Given the description of an element on the screen output the (x, y) to click on. 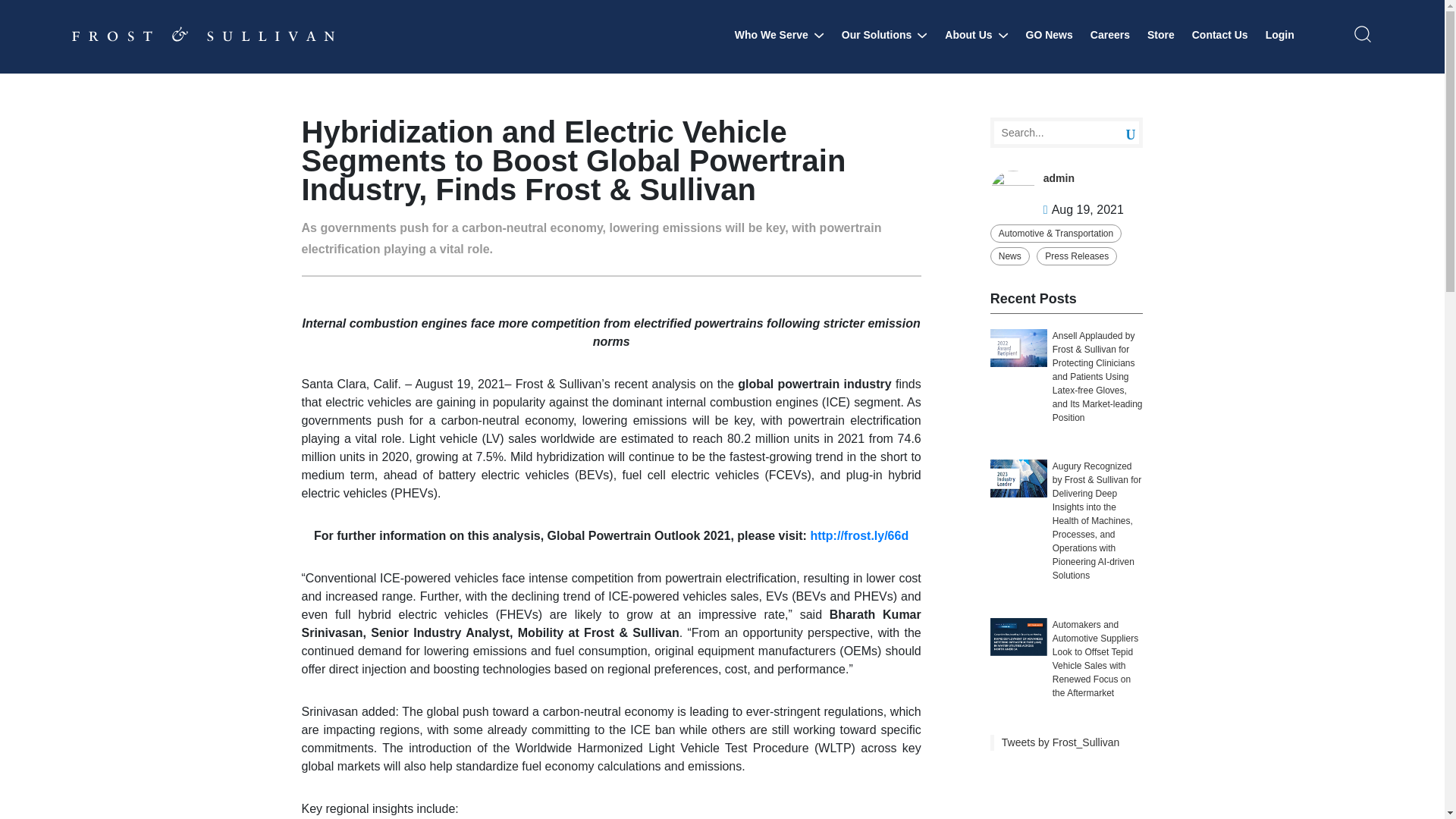
Who We Serve (779, 35)
Search (1118, 132)
